Given the description of an element on the screen output the (x, y) to click on. 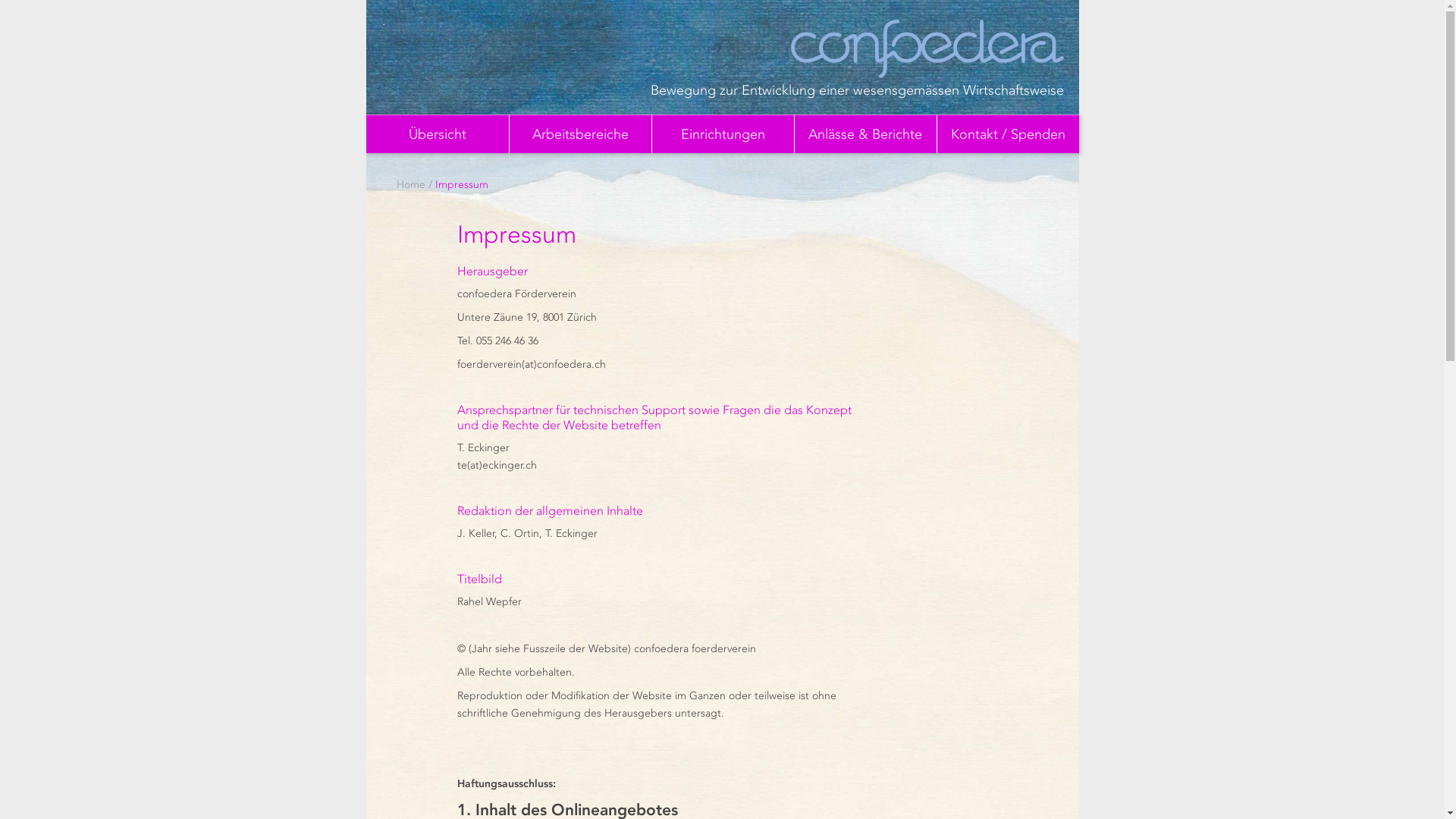
Arbeitsbereiche Element type: text (579, 133)
Home Element type: text (409, 184)
Einrichtungen Element type: text (721, 133)
Kontakt / Spenden Element type: text (1006, 133)
Impressum Element type: text (461, 184)
